Given the description of an element on the screen output the (x, y) to click on. 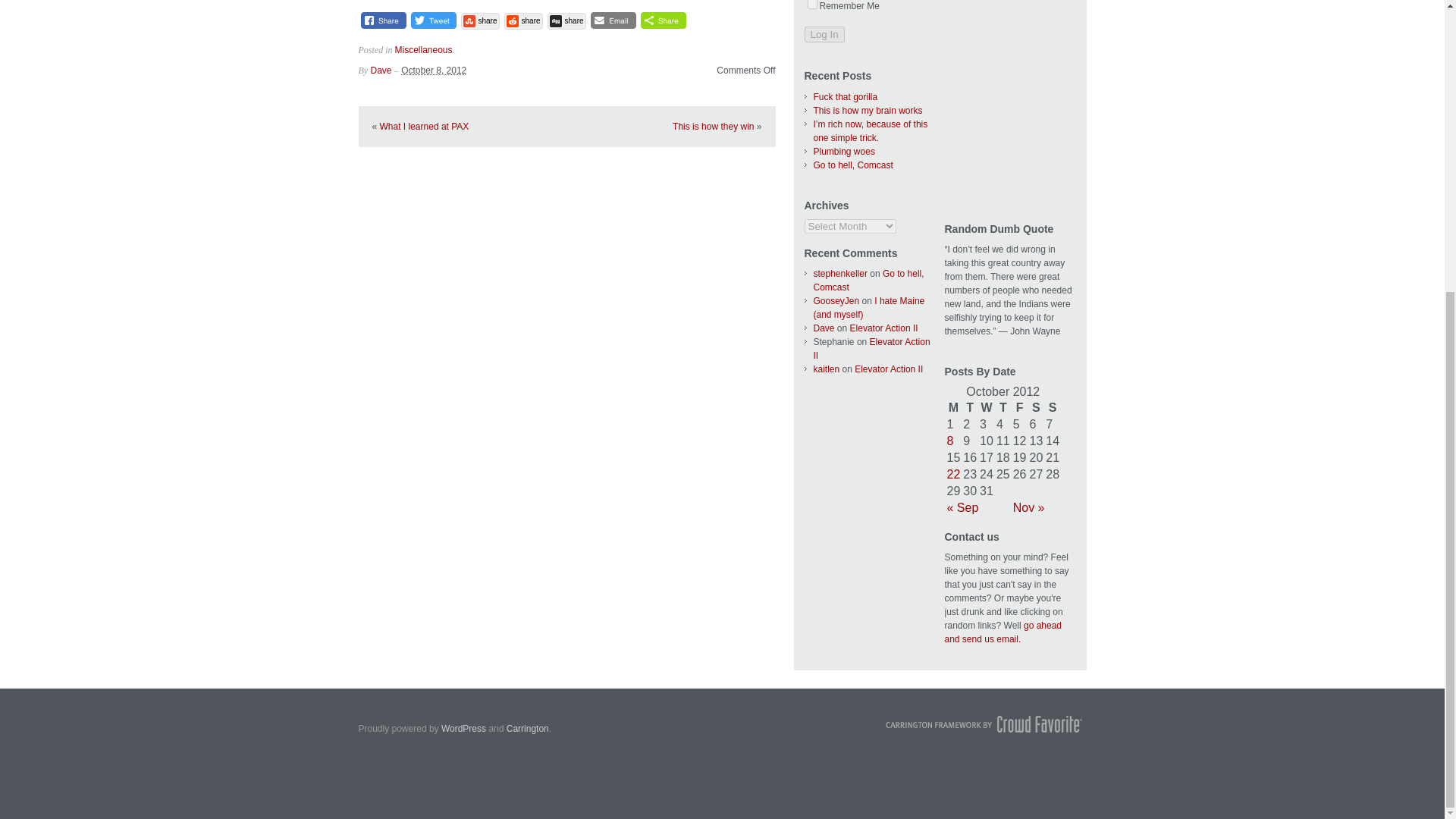
This is how my brain works (866, 110)
Log In (823, 34)
Miscellaneous (422, 50)
Elevator Action II (884, 327)
GooseyJen (835, 300)
What I learned at PAX (424, 126)
Log In (823, 34)
22 (952, 473)
This is how they win (713, 126)
Dave (823, 327)
Elevator Action II (888, 368)
Dave (380, 70)
Fuck that gorilla (844, 96)
forever (811, 4)
Elevator Action II (871, 348)
